Given the description of an element on the screen output the (x, y) to click on. 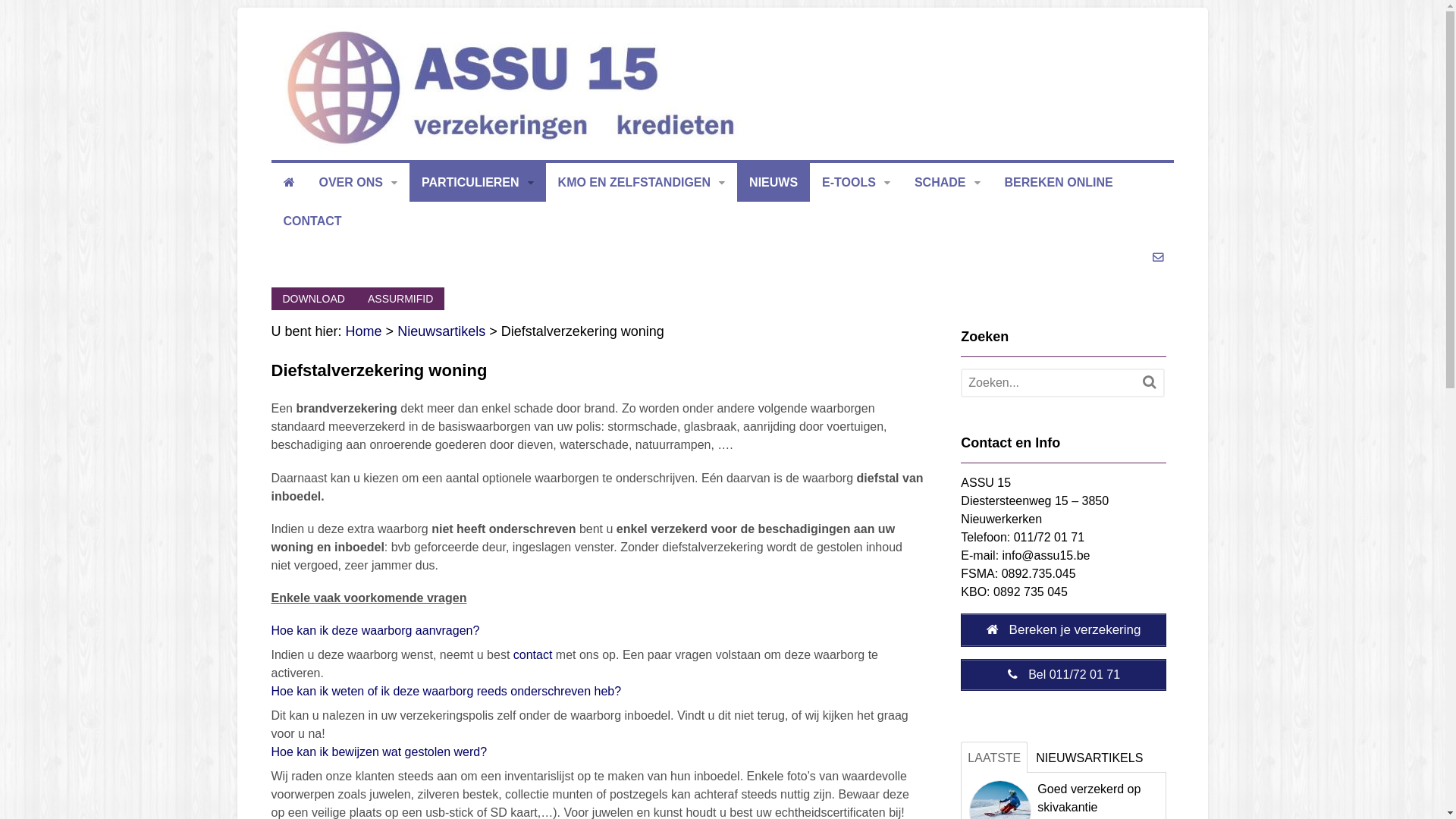
Nieuwsartikels Element type: text (441, 330)
Search Element type: text (1148, 381)
Hoe kan ik deze waarborg aanvragen? Element type: text (375, 630)
OVER ONS Element type: text (357, 182)
BEREKEN ONLINE Element type: text (1058, 182)
Bereken je verzekering Element type: text (1062, 629)
KMO EN ZELFSTANDIGEN Element type: text (641, 182)
Goed verzekerd op skivakantie Element type: text (1088, 797)
Hoe kan ik bewijzen wat gestolen werd? Element type: text (379, 751)
ASSURMIFID Element type: text (400, 298)
Bel 011/72 01 71 Element type: text (1062, 674)
NIEUWS Element type: text (773, 182)
CONTACT Element type: text (312, 220)
E-TOOLS Element type: text (855, 182)
PARTICULIEREN Element type: text (477, 182)
NIEUWSARTIKELS Element type: text (1089, 756)
LAATSTE Element type: text (993, 756)
SCHADE Element type: text (947, 182)
DOWNLOAD Element type: text (313, 298)
Home Element type: text (363, 330)
contact Element type: text (532, 654)
